Given the description of an element on the screen output the (x, y) to click on. 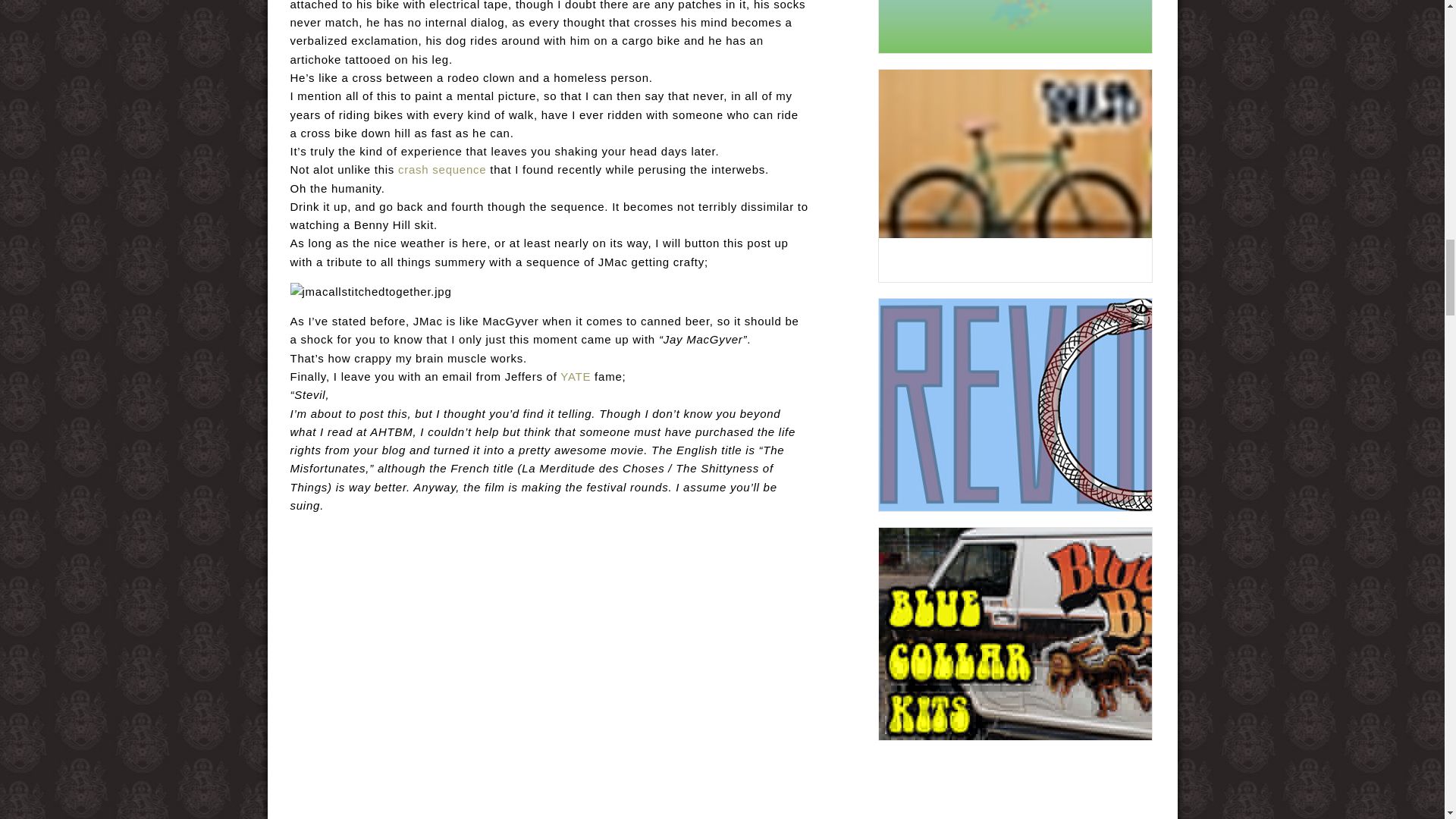
YATE (575, 376)
crash sequence (441, 169)
